Given the description of an element on the screen output the (x, y) to click on. 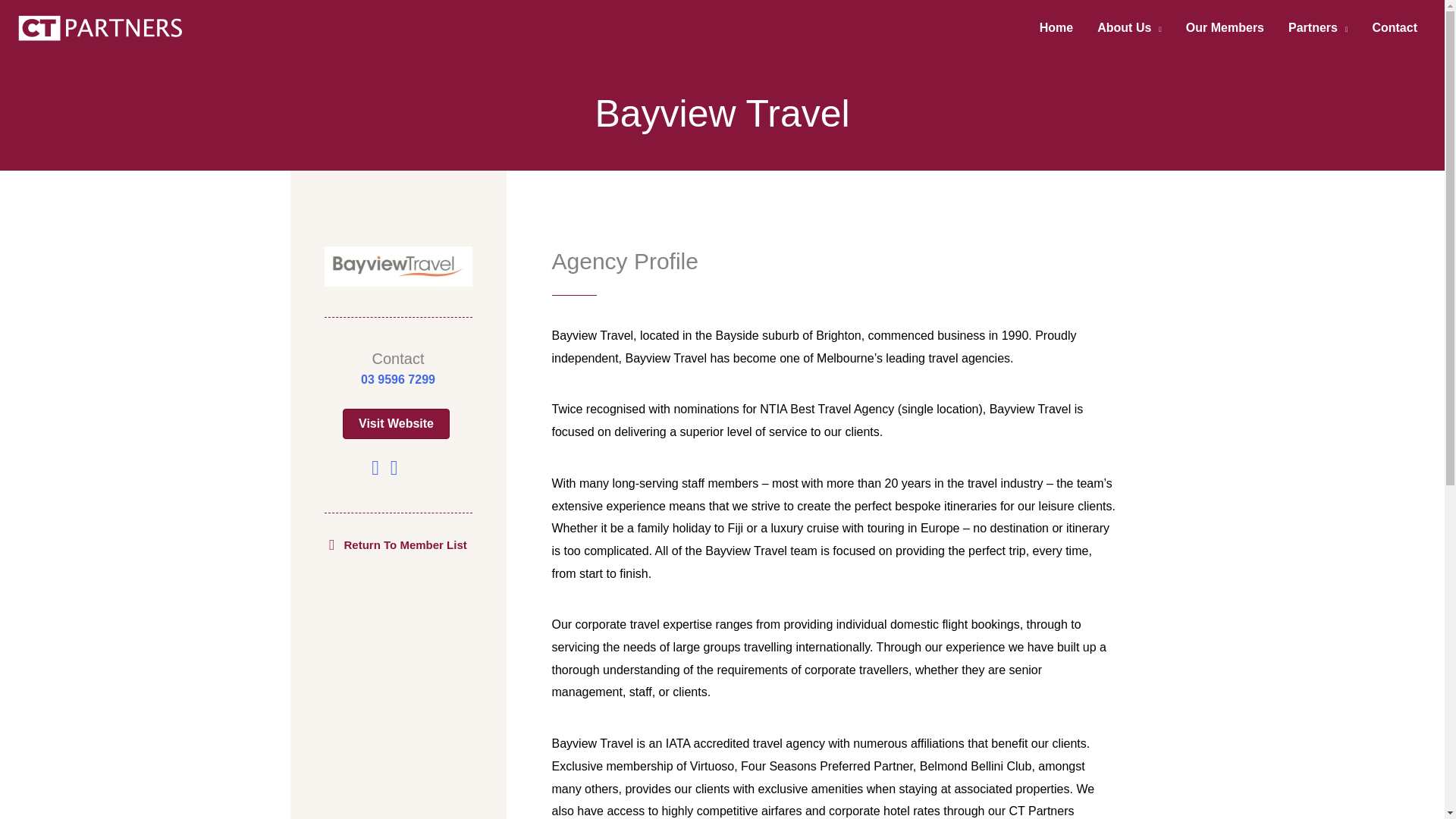
Partners (1317, 27)
About Us (1128, 27)
Our Members (1224, 27)
Home (1055, 27)
Contact (1394, 27)
